Given the description of an element on the screen output the (x, y) to click on. 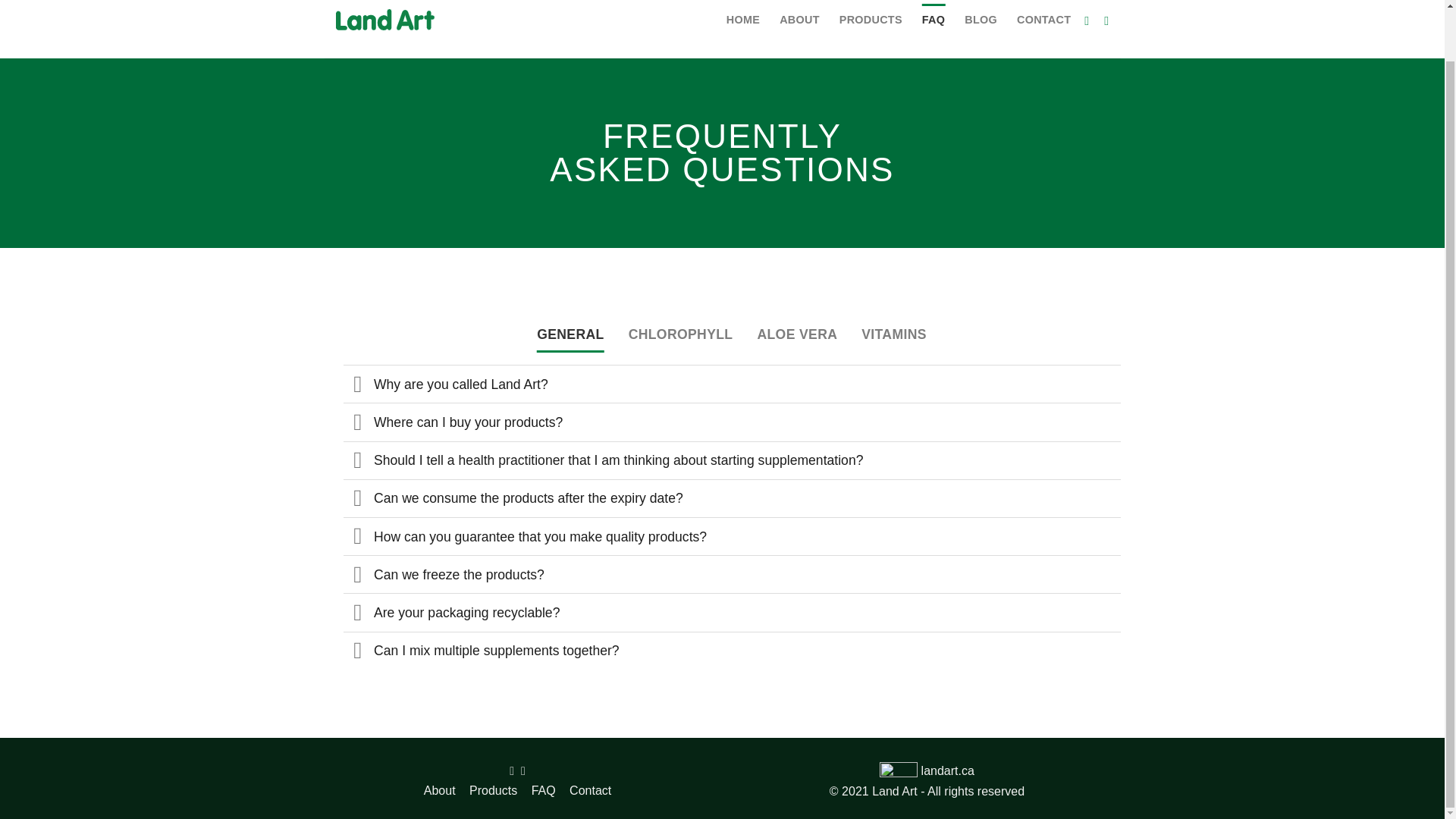
Can we consume the products after the expiry date? (730, 497)
GENERAL (570, 334)
Can we freeze the products? (730, 573)
Are your packaging recyclable? (730, 611)
VITAMINS (893, 334)
Where can I buy your products? (730, 421)
HOME (743, 20)
PRODUCTS (871, 20)
Land Art (400, 20)
